Given the description of an element on the screen output the (x, y) to click on. 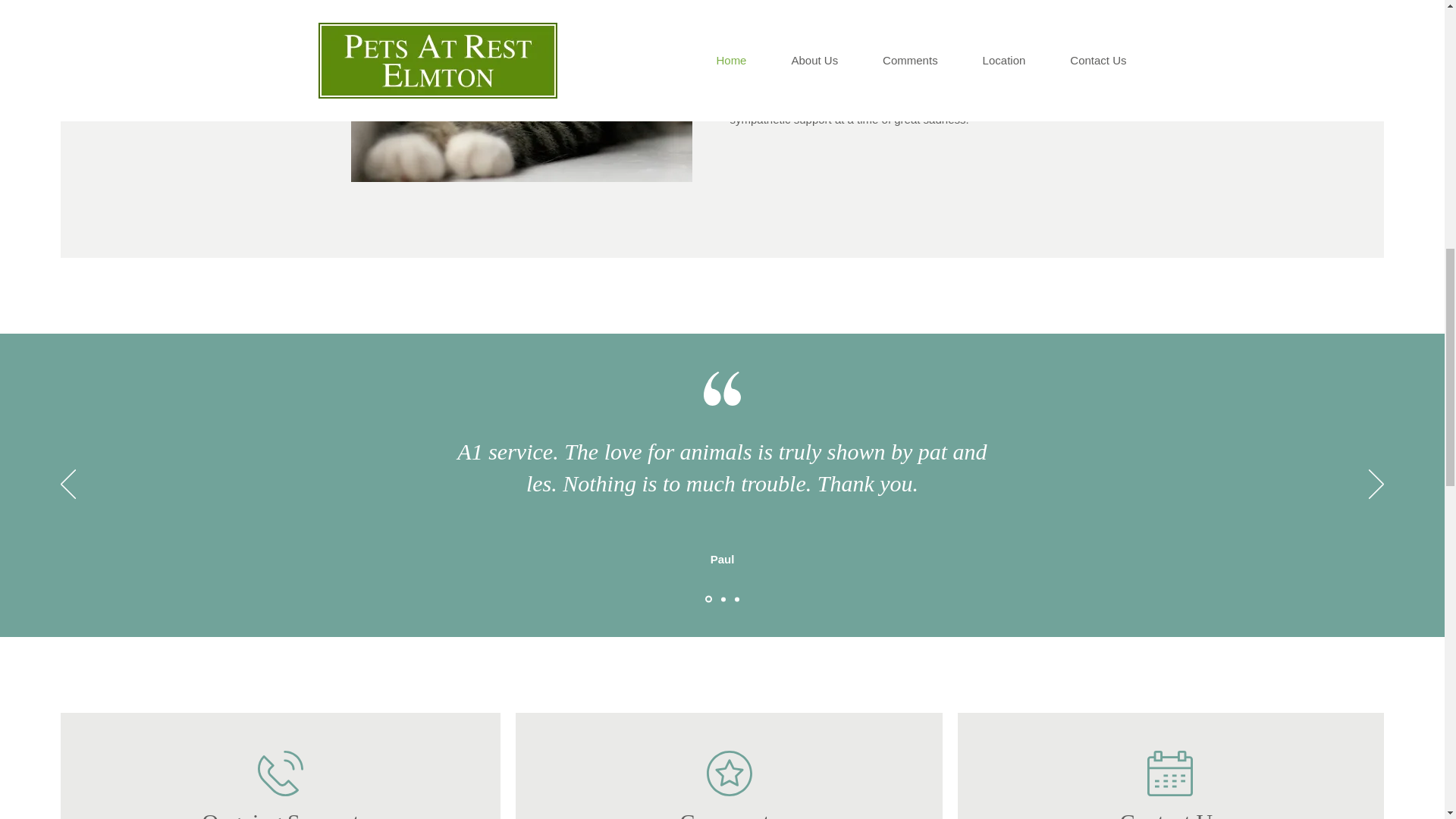
Contact Us (1170, 814)
Ongoing Support (280, 814)
Comments (728, 814)
